Given the description of an element on the screen output the (x, y) to click on. 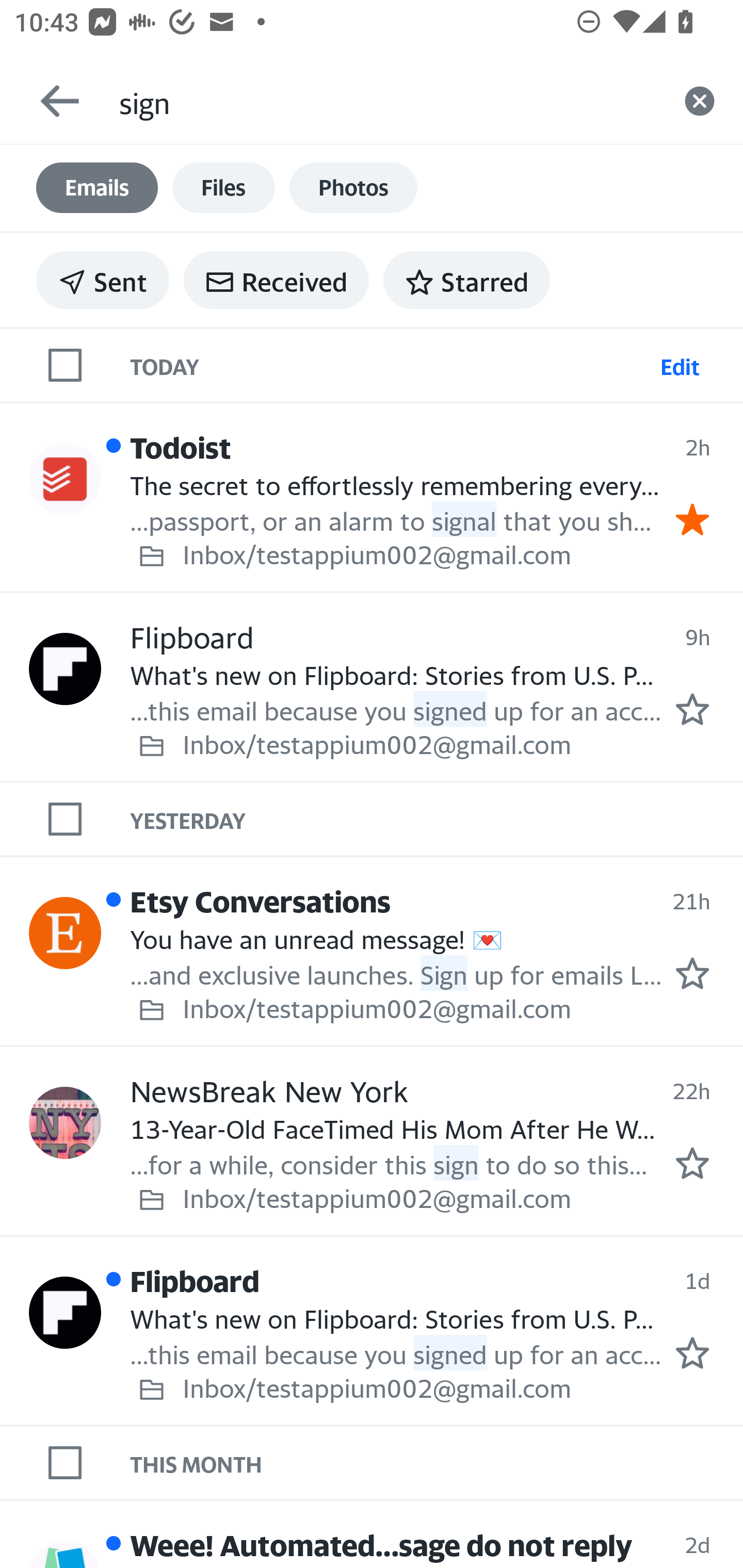
Back (50, 101)
sign (387, 101)
Clear (699, 101)
Emails (96, 188)
Files (223, 188)
Photos (353, 188)
Sent (102, 279)
Received (276, 279)
Starred (466, 279)
TODAY (391, 364)
Edit Select emails (679, 364)
Profile
Todoist (64, 479)
Remove star. (692, 519)
Profile
Flipboard (64, 669)
Mark as starred. (692, 709)
YESTERDAY (436, 819)
Profile
Etsy Conversations (64, 932)
Mark as starred. (692, 972)
Profile
NewsBreak New York (64, 1122)
Mark as starred. (692, 1162)
Profile
Flipboard (64, 1312)
Mark as starred. (692, 1352)
THIS MONTH (436, 1461)
